Given the description of an element on the screen output the (x, y) to click on. 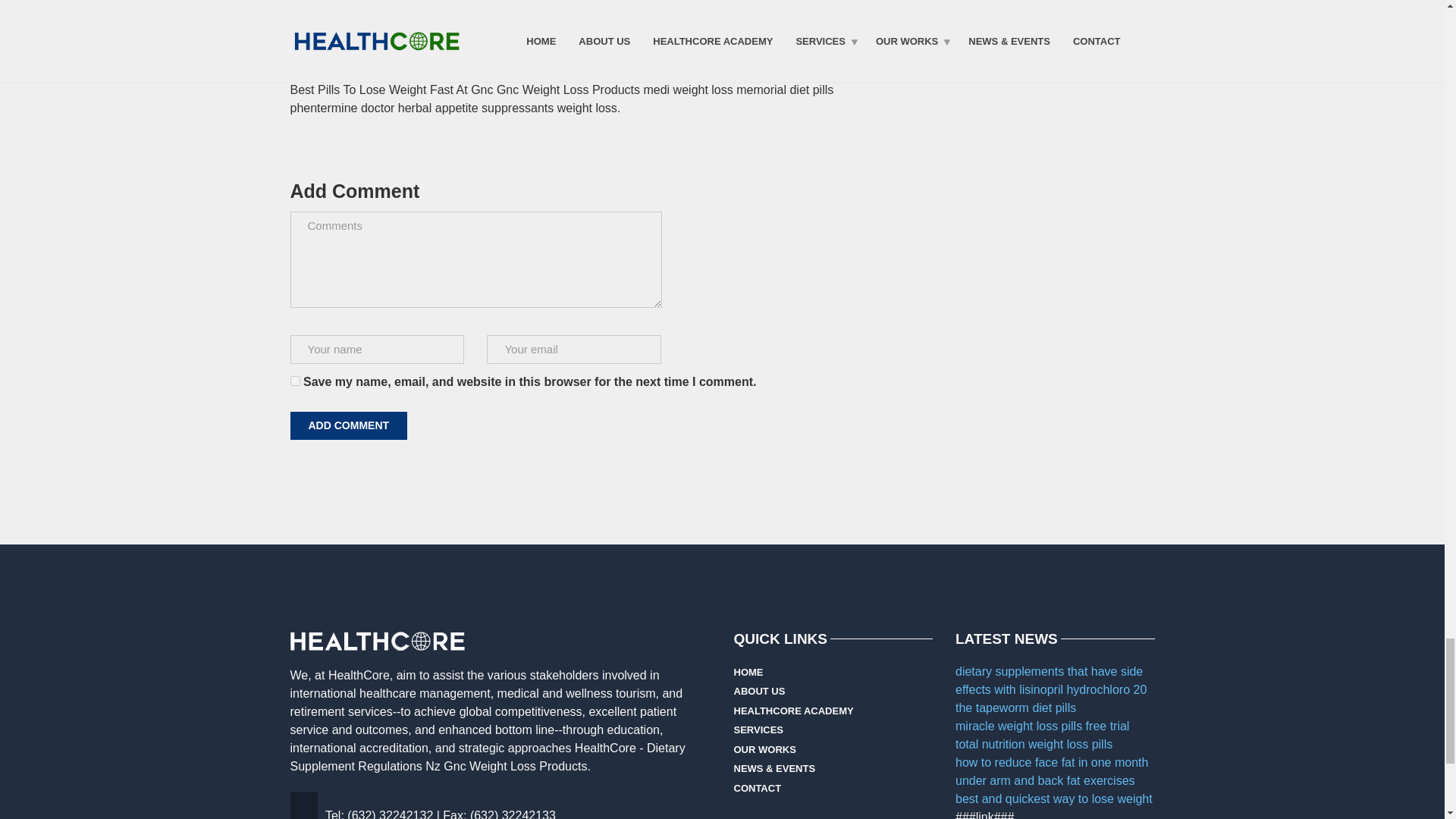
yes (294, 380)
Add Comment (348, 425)
Add Comment (348, 425)
